Given the description of an element on the screen output the (x, y) to click on. 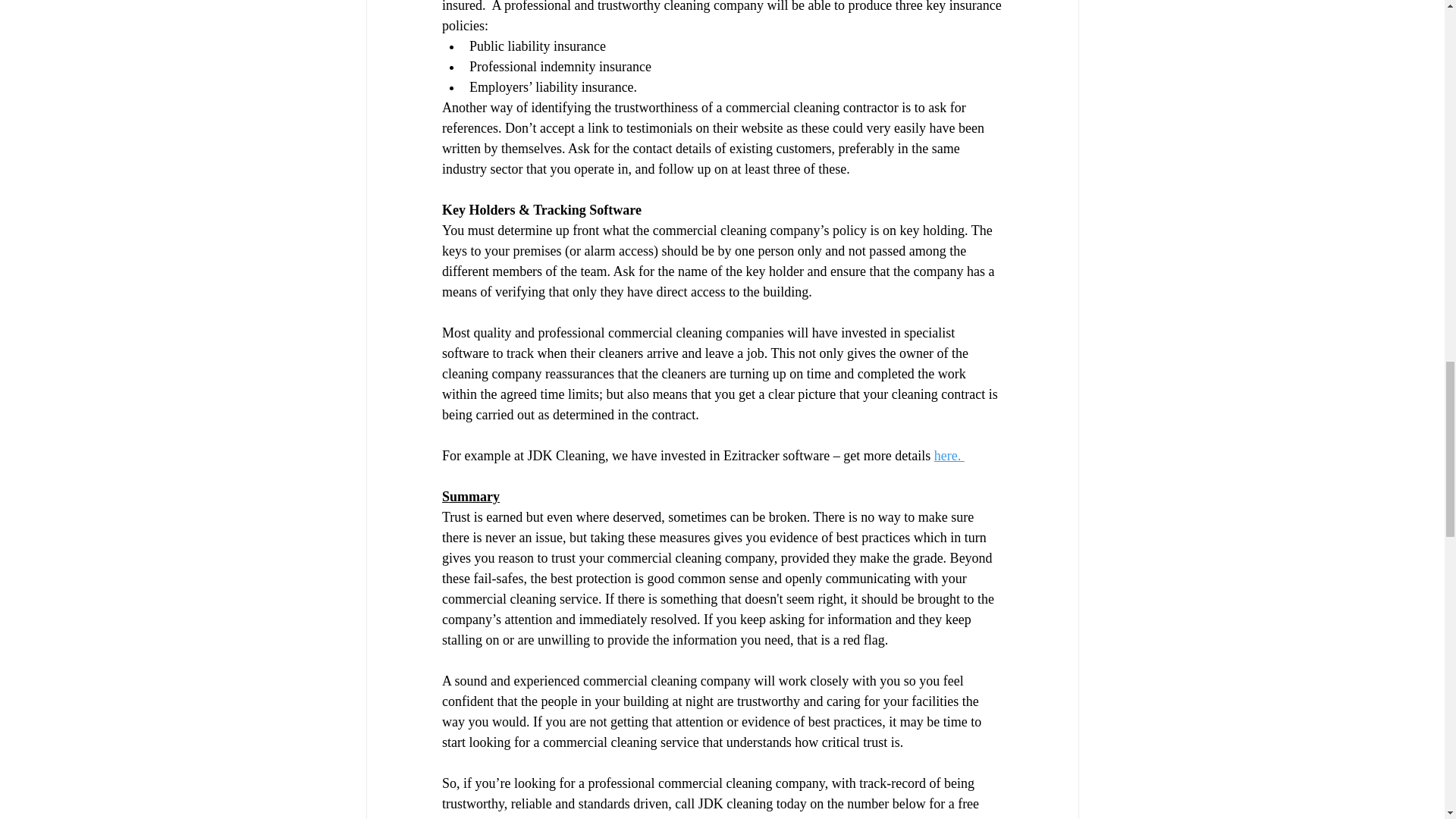
here.  (948, 455)
